Given the description of an element on the screen output the (x, y) to click on. 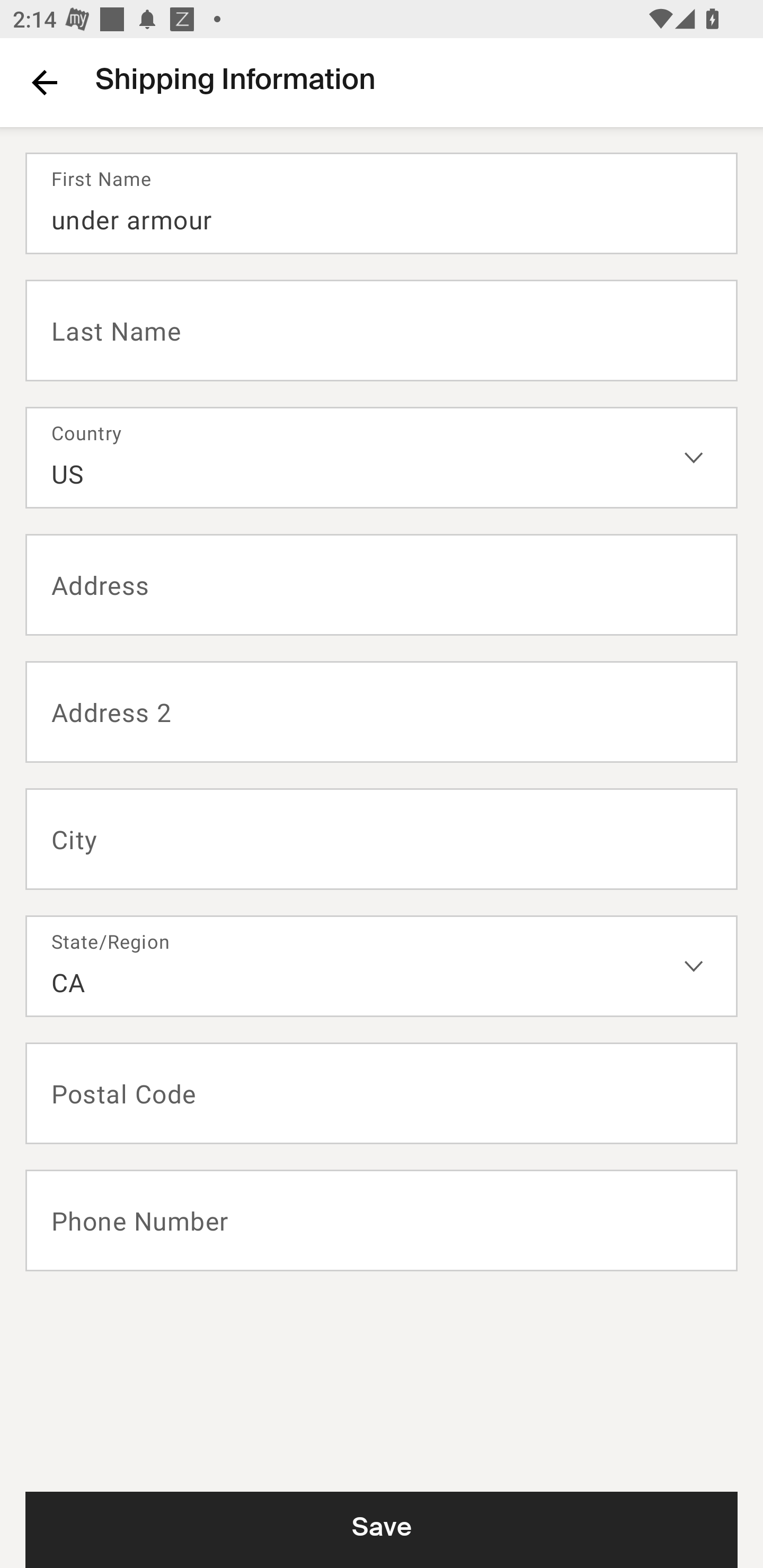
Navigate up (44, 82)
under armour
 First Name (381, 203)
Last Name (381, 330)
Address (381, 584)
Address 2 (381, 711)
City (381, 839)
Postal Code (381, 1093)
Phone Number (381, 1220)
Save (381, 1529)
